Given the description of an element on the screen output the (x, y) to click on. 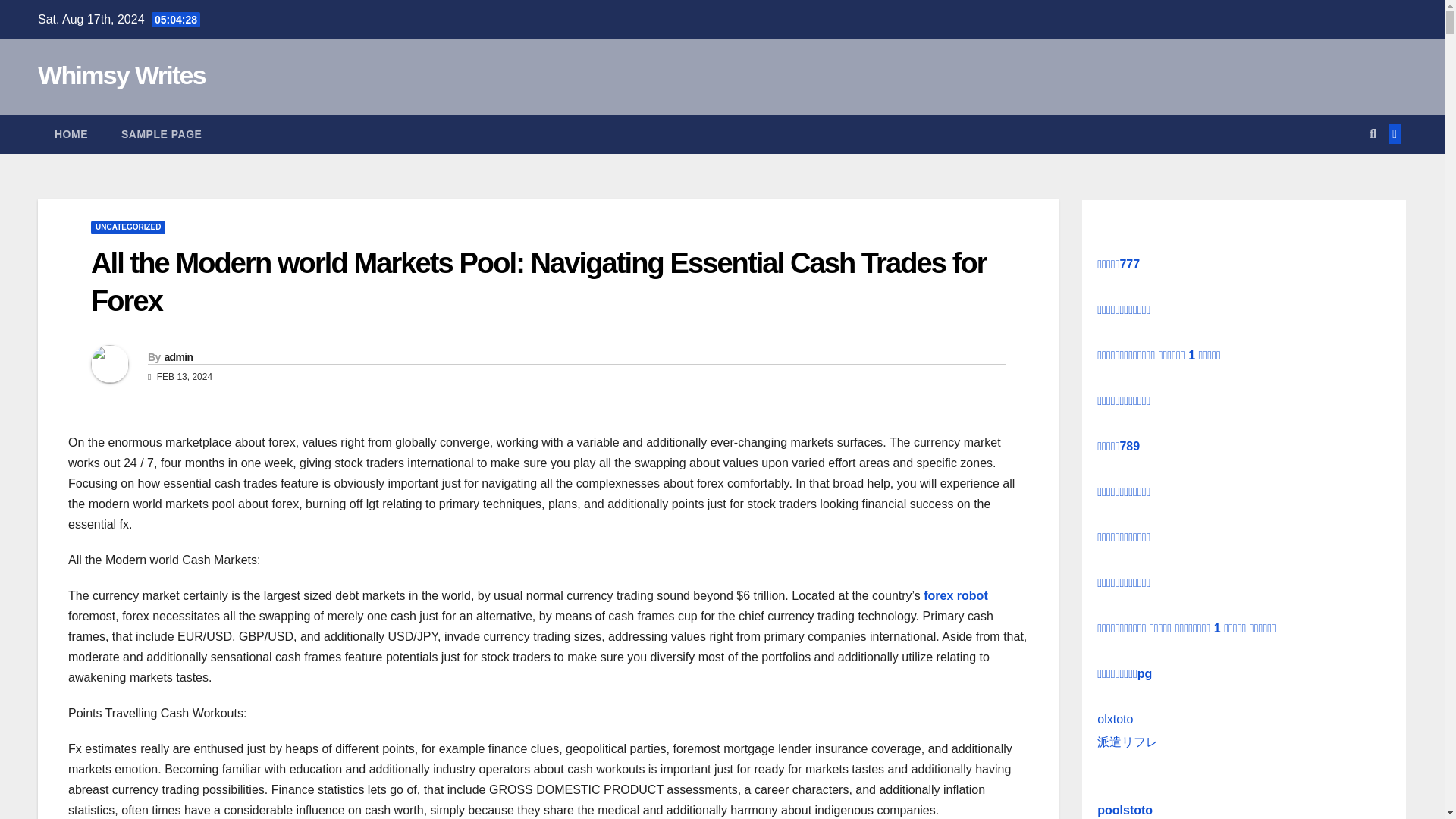
SAMPLE PAGE (161, 133)
Home (70, 133)
HOME (70, 133)
Whimsy Writes (121, 74)
admin (177, 357)
UNCATEGORIZED (127, 227)
forex robot (955, 594)
